Given the description of an element on the screen output the (x, y) to click on. 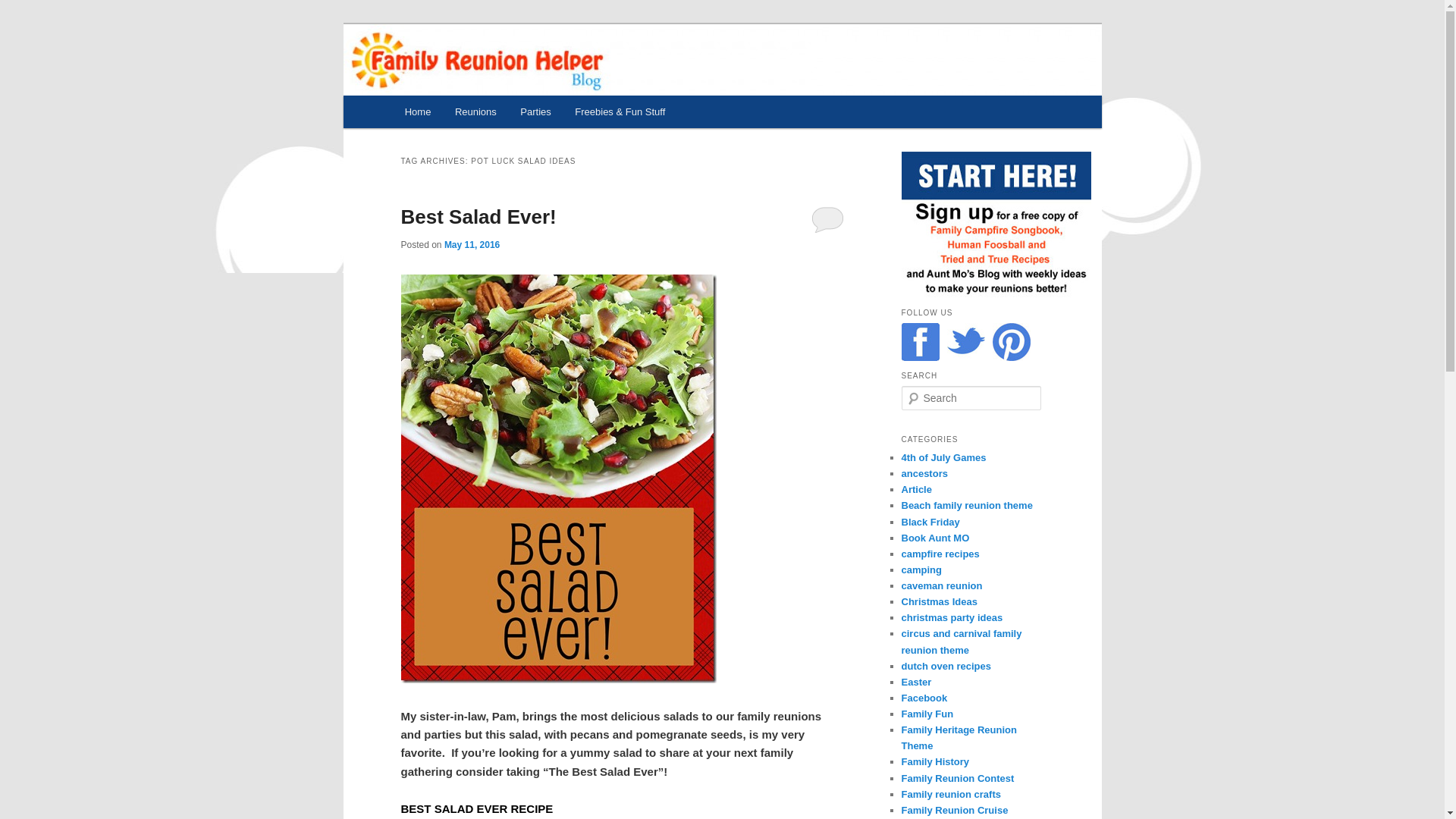
May 11, 2016 (471, 244)
12:13 pm (471, 244)
Reunions (475, 111)
Beach family reunion theme (966, 505)
Book Aunt MO (935, 537)
Parties (535, 111)
Search (21, 11)
Black Friday (930, 521)
4th of July Games (943, 457)
